Given the description of an element on the screen output the (x, y) to click on. 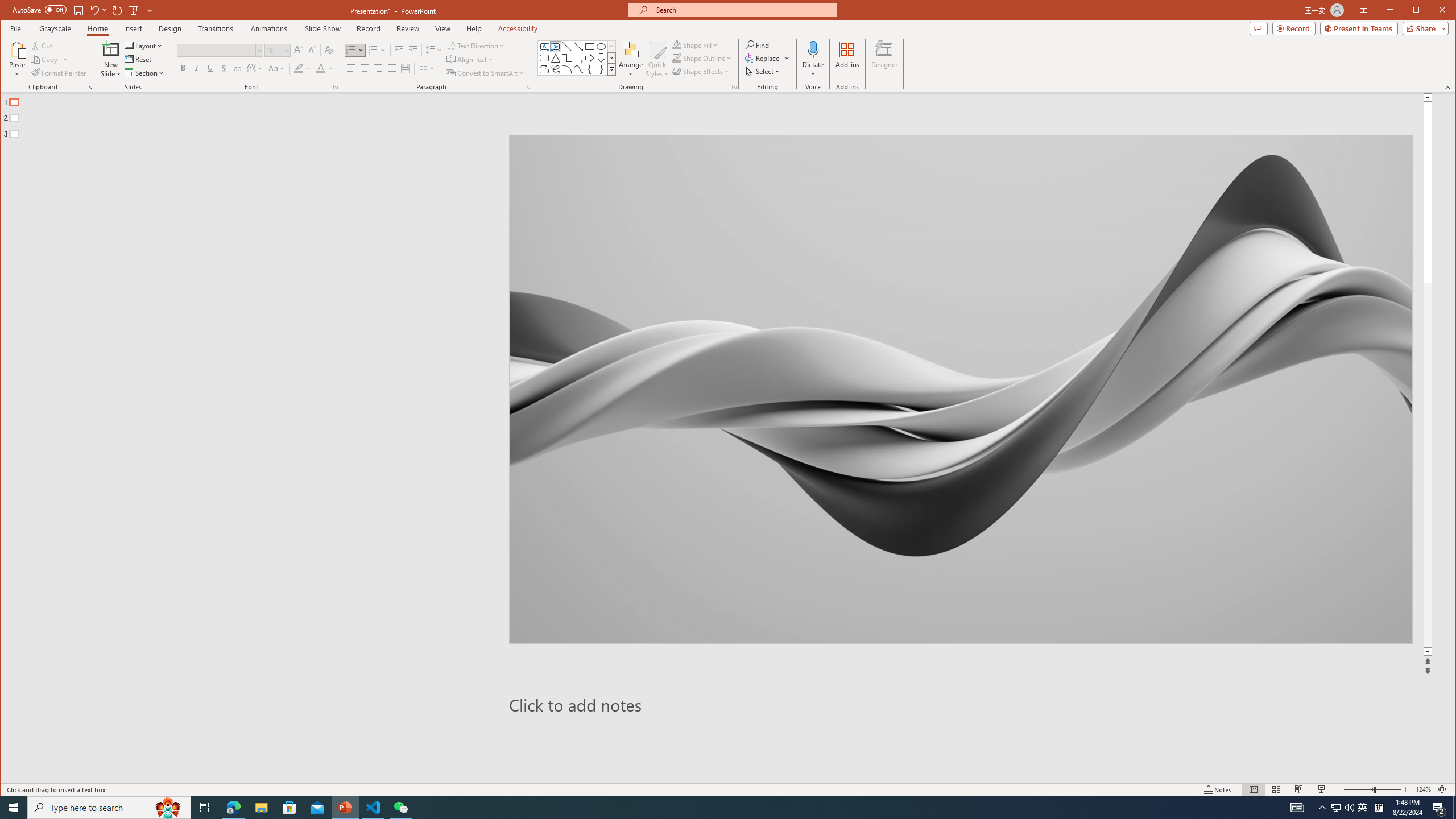
Zoom 124% (1422, 789)
